Given the description of an element on the screen output the (x, y) to click on. 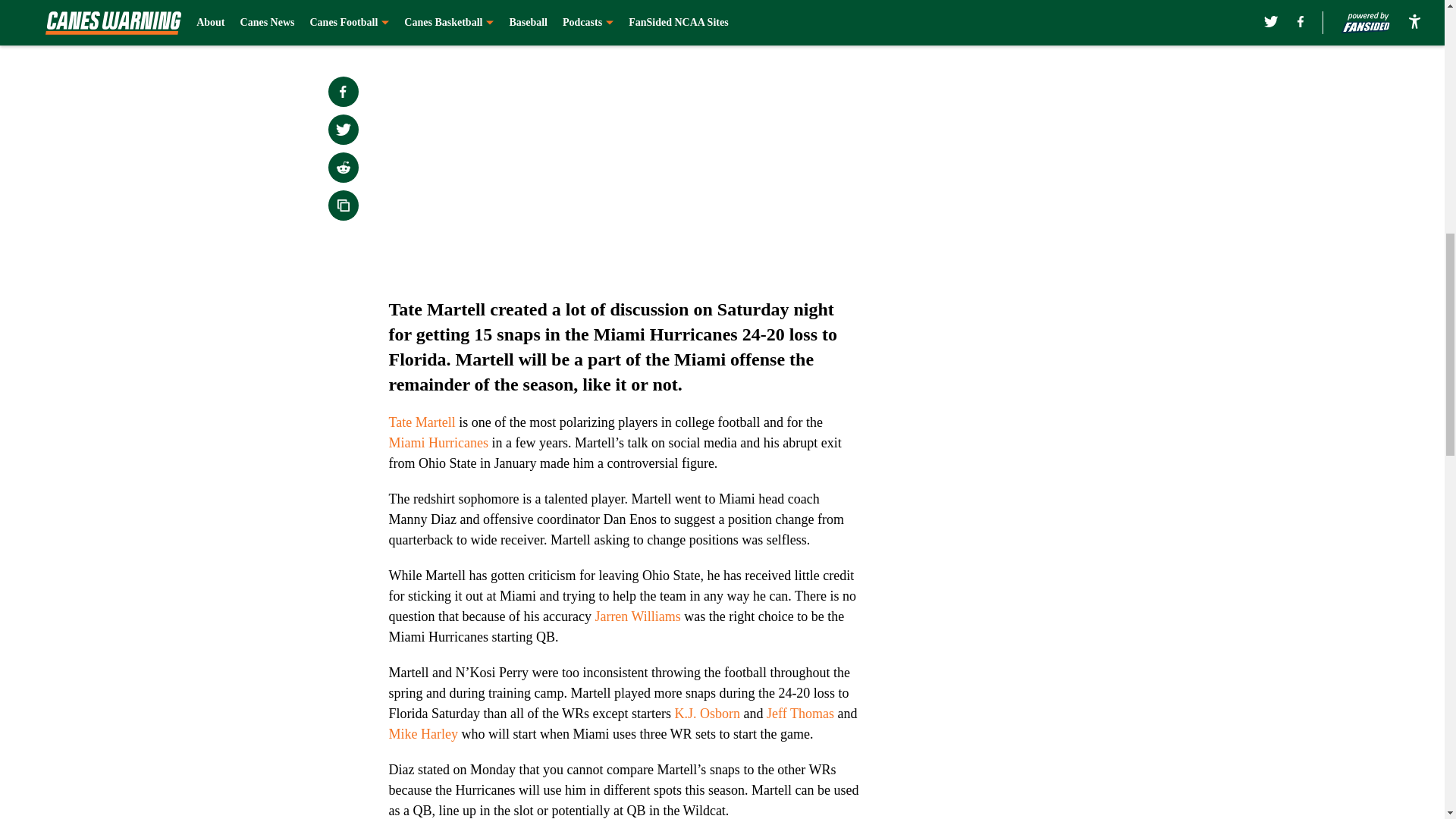
Mike Harley (422, 734)
K.J. Osborn (708, 713)
Tate Martell (423, 421)
Jarren Williams (636, 616)
Jeff Thomas (800, 713)
Miami Hurricanes (437, 442)
